Given the description of an element on the screen output the (x, y) to click on. 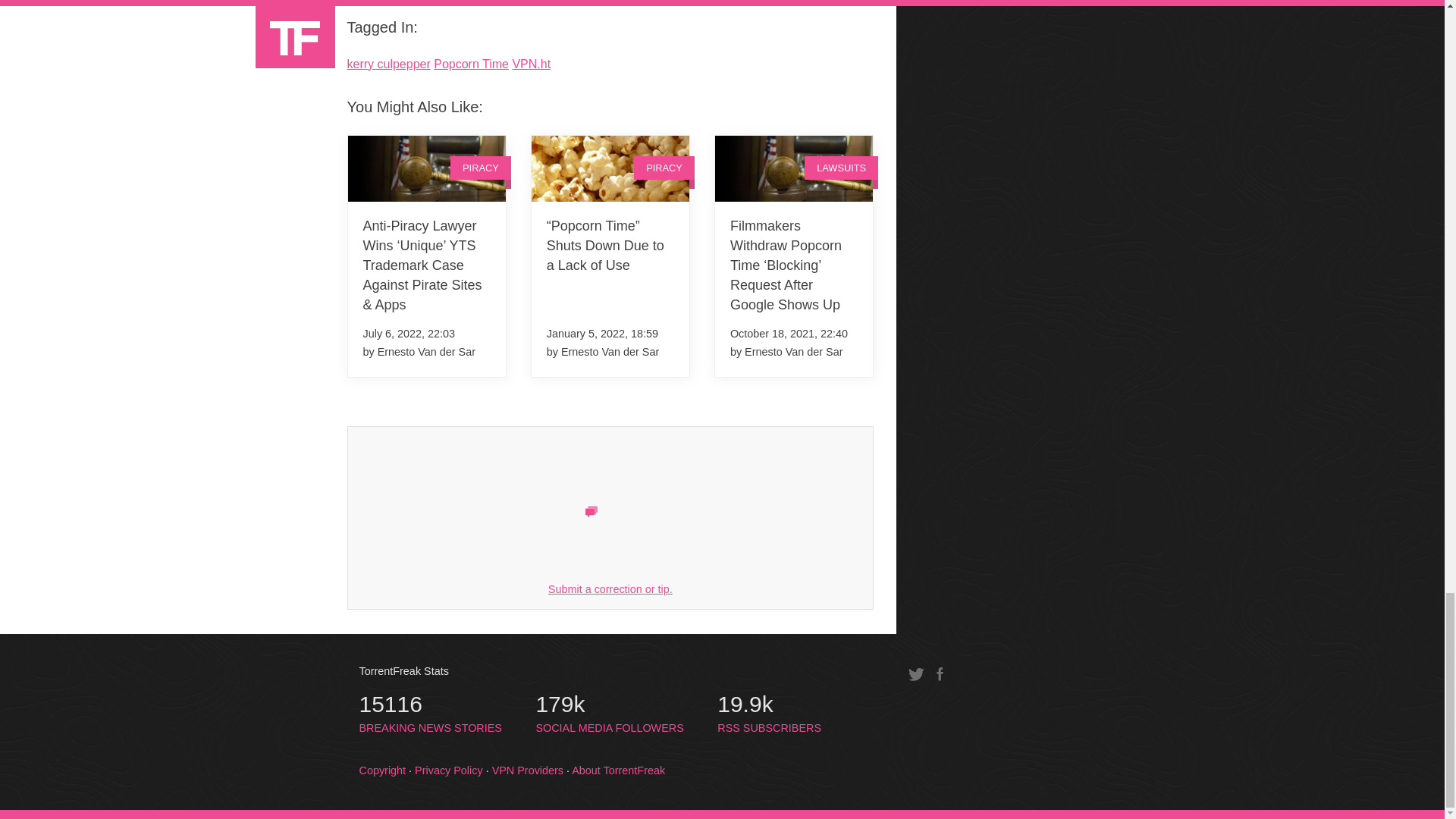
Submit a correction or tip. (610, 589)
Popcorn Time (470, 63)
kerry culpepper (388, 63)
VPN.ht (531, 63)
